Given the description of an element on the screen output the (x, y) to click on. 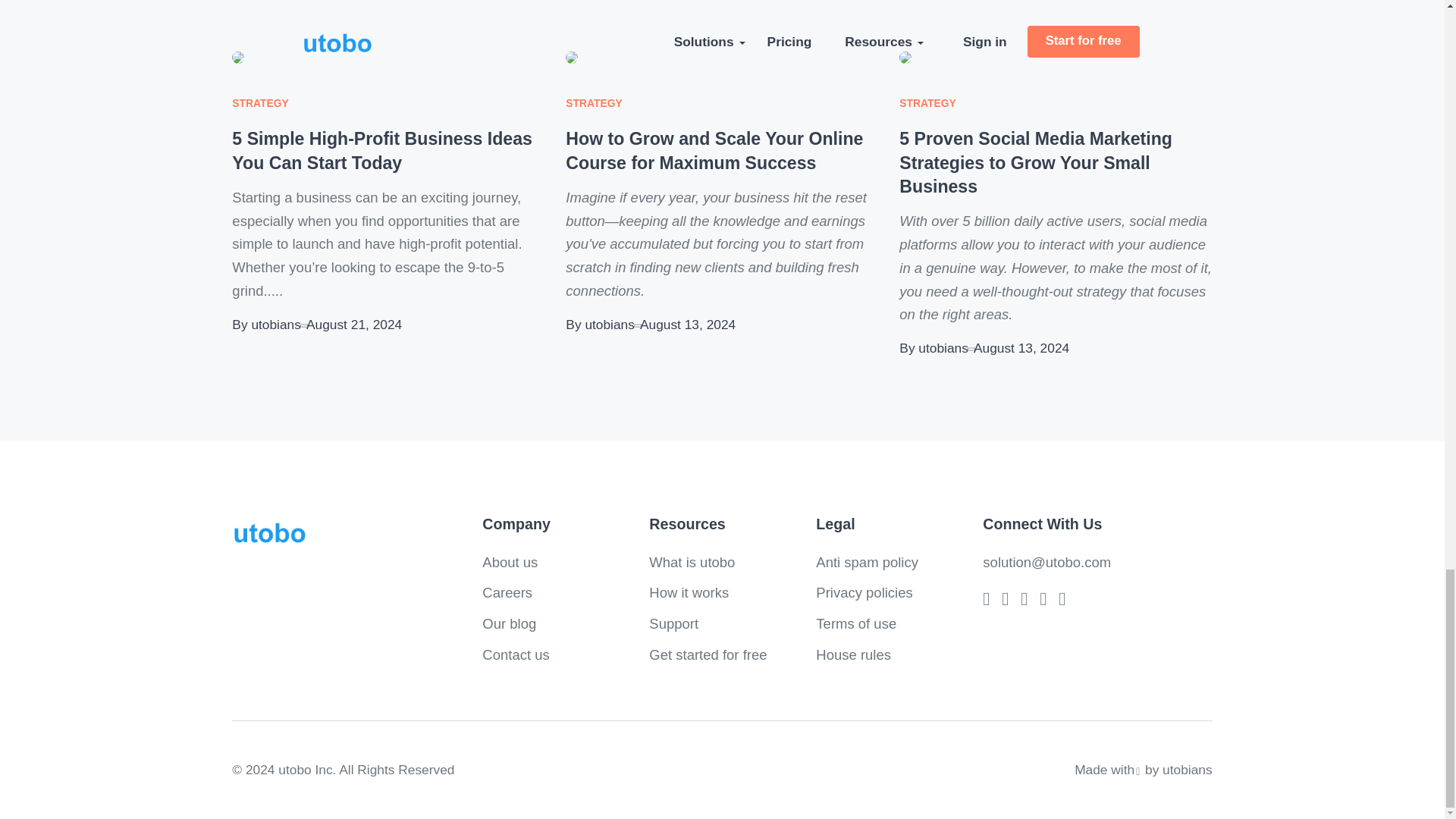
5 Simple High-Profit Business Ideas You Can Start Today (381, 149)
How to Grow and Scale Your Online Course for Maximum Success (714, 149)
